Given the description of an element on the screen output the (x, y) to click on. 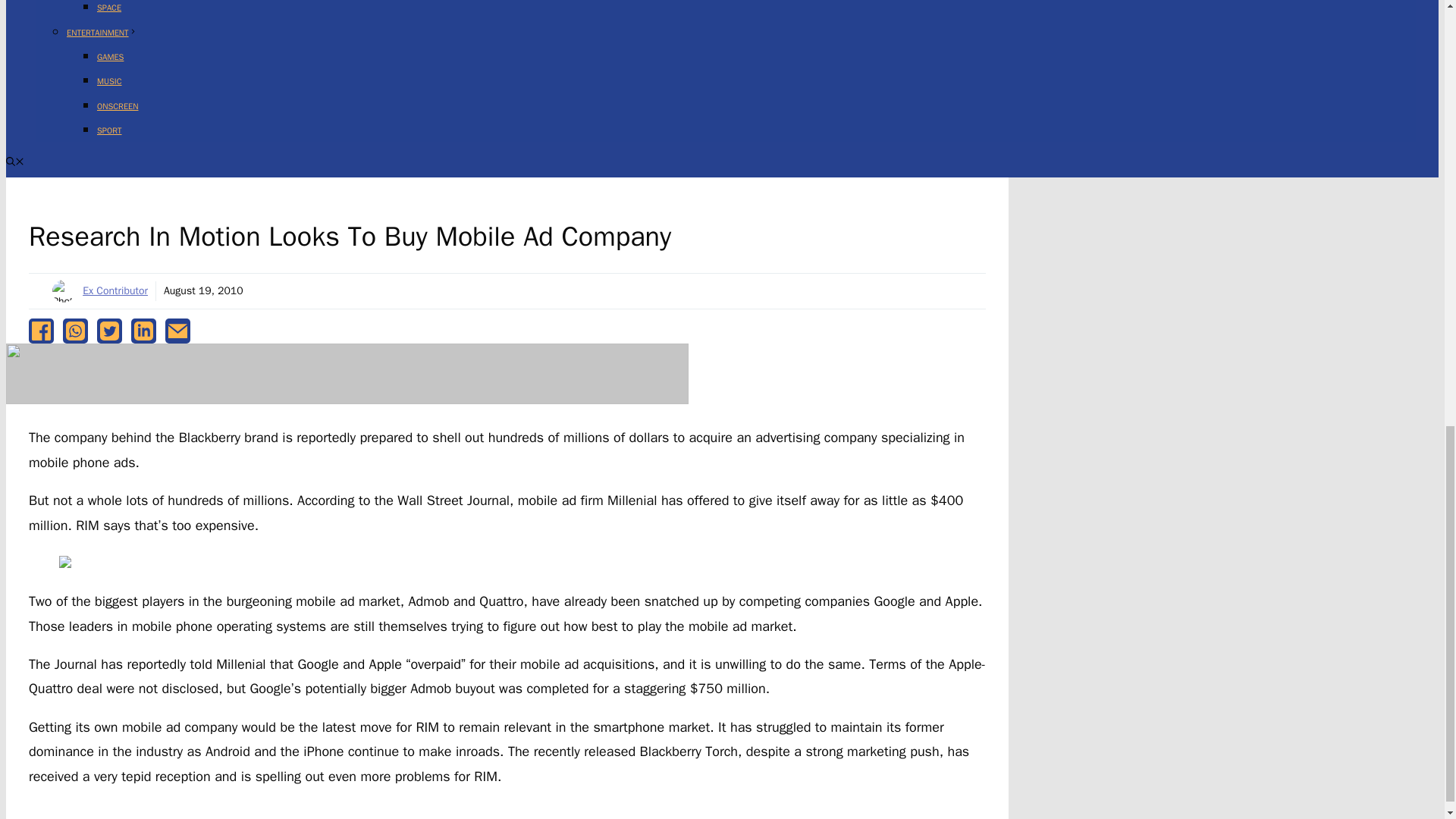
SPACE (108, 7)
ENTERTAINMENT (101, 32)
MUSIC (109, 81)
GAMES (110, 56)
